Given the description of an element on the screen output the (x, y) to click on. 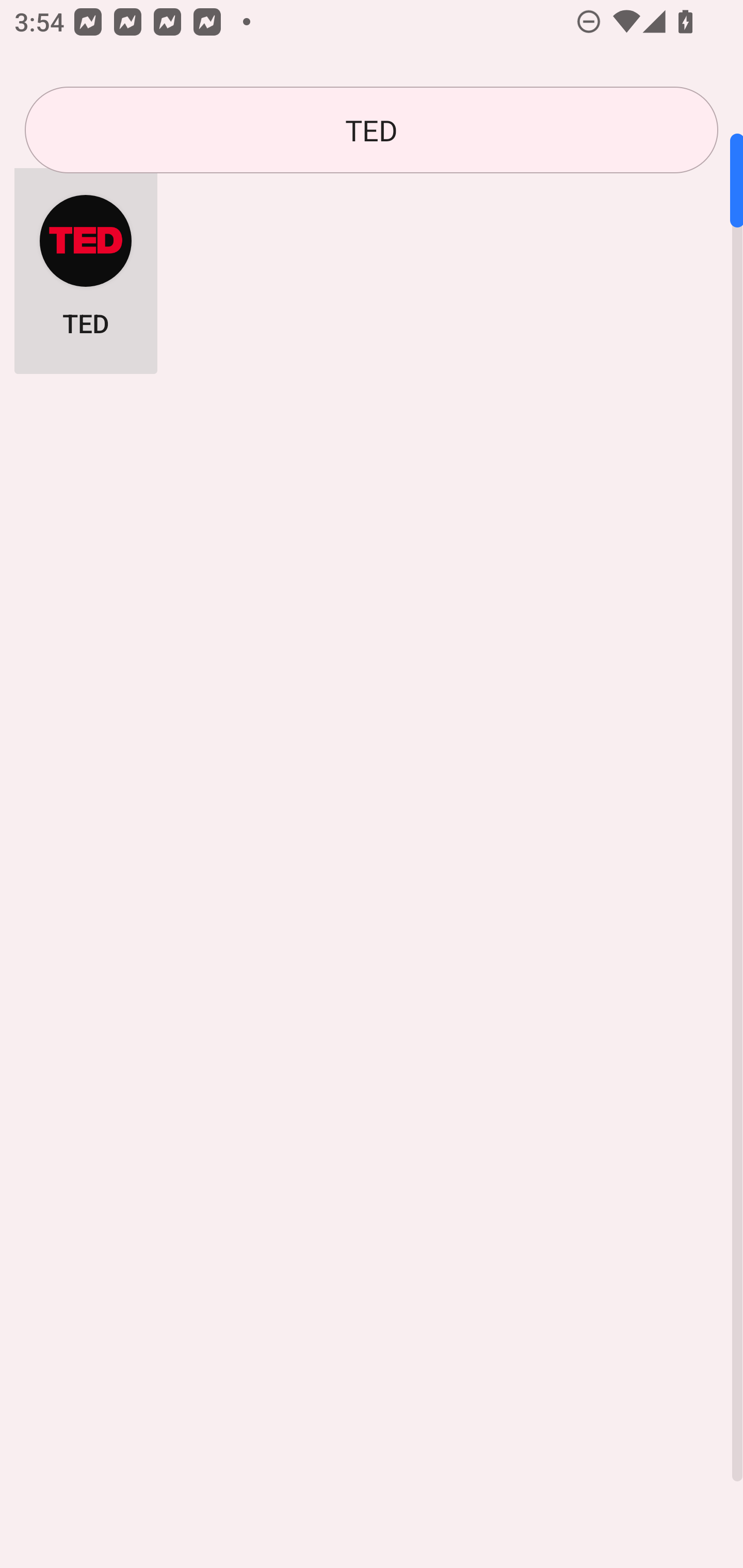
TED (371, 130)
TED (85, 264)
